Given the description of an element on the screen output the (x, y) to click on. 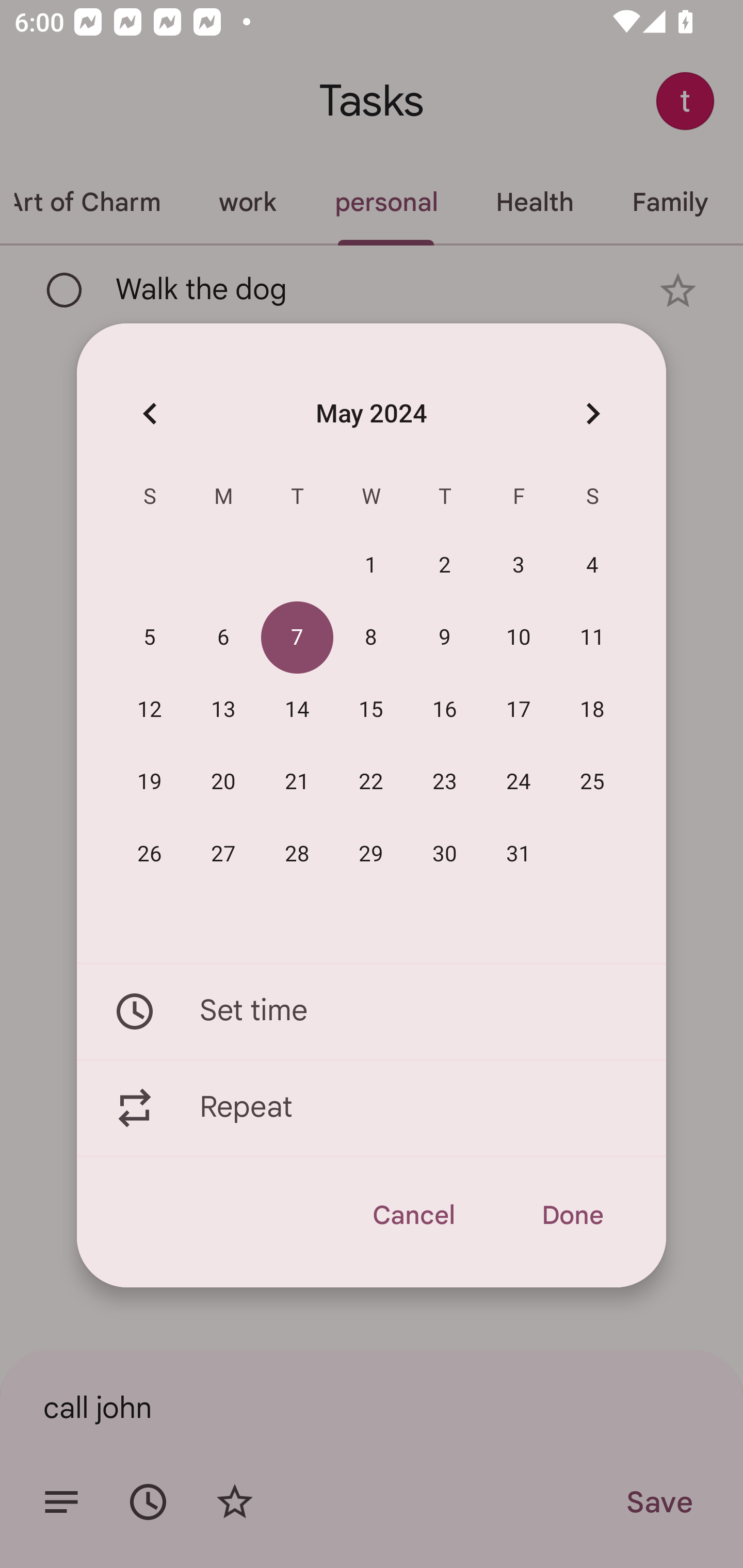
Previous month (149, 413)
Next month (592, 413)
1 01 May 2024 (370, 565)
2 02 May 2024 (444, 565)
3 03 May 2024 (518, 565)
4 04 May 2024 (592, 565)
5 05 May 2024 (149, 638)
6 06 May 2024 (223, 638)
7 07 May 2024 (297, 638)
8 08 May 2024 (370, 638)
9 09 May 2024 (444, 638)
10 10 May 2024 (518, 638)
11 11 May 2024 (592, 638)
12 12 May 2024 (149, 710)
13 13 May 2024 (223, 710)
14 14 May 2024 (297, 710)
15 15 May 2024 (370, 710)
16 16 May 2024 (444, 710)
17 17 May 2024 (518, 710)
18 18 May 2024 (592, 710)
19 19 May 2024 (149, 782)
20 20 May 2024 (223, 782)
21 21 May 2024 (297, 782)
22 22 May 2024 (370, 782)
23 23 May 2024 (444, 782)
24 24 May 2024 (518, 782)
25 25 May 2024 (592, 782)
26 26 May 2024 (149, 854)
27 27 May 2024 (223, 854)
28 28 May 2024 (297, 854)
29 29 May 2024 (370, 854)
30 30 May 2024 (444, 854)
31 31 May 2024 (518, 854)
Set time (371, 1011)
Repeat (371, 1108)
Cancel (412, 1215)
Done (571, 1215)
